Given the description of an element on the screen output the (x, y) to click on. 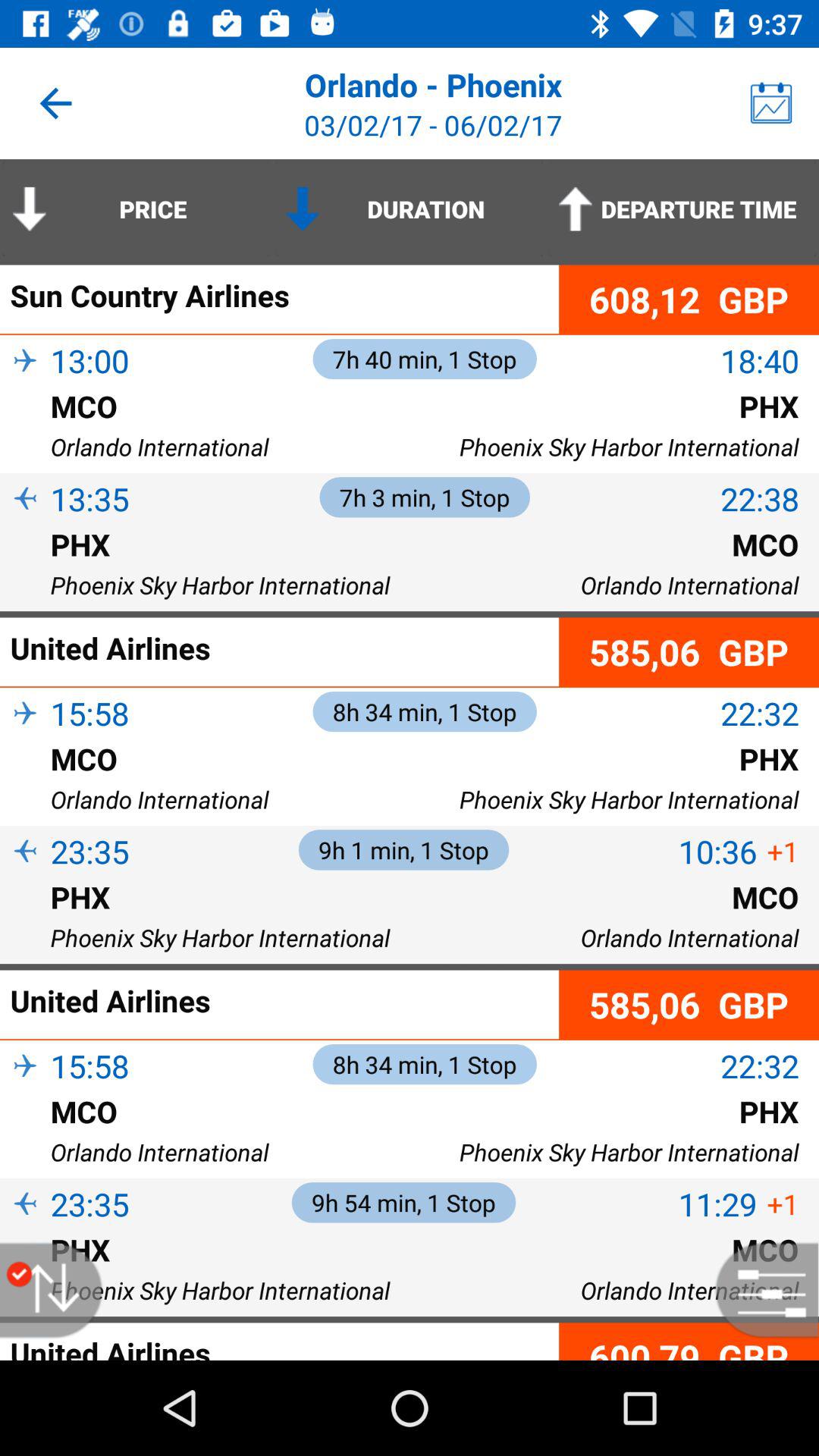
tap item next to 9h 1 min item (717, 851)
